Given the description of an element on the screen output the (x, y) to click on. 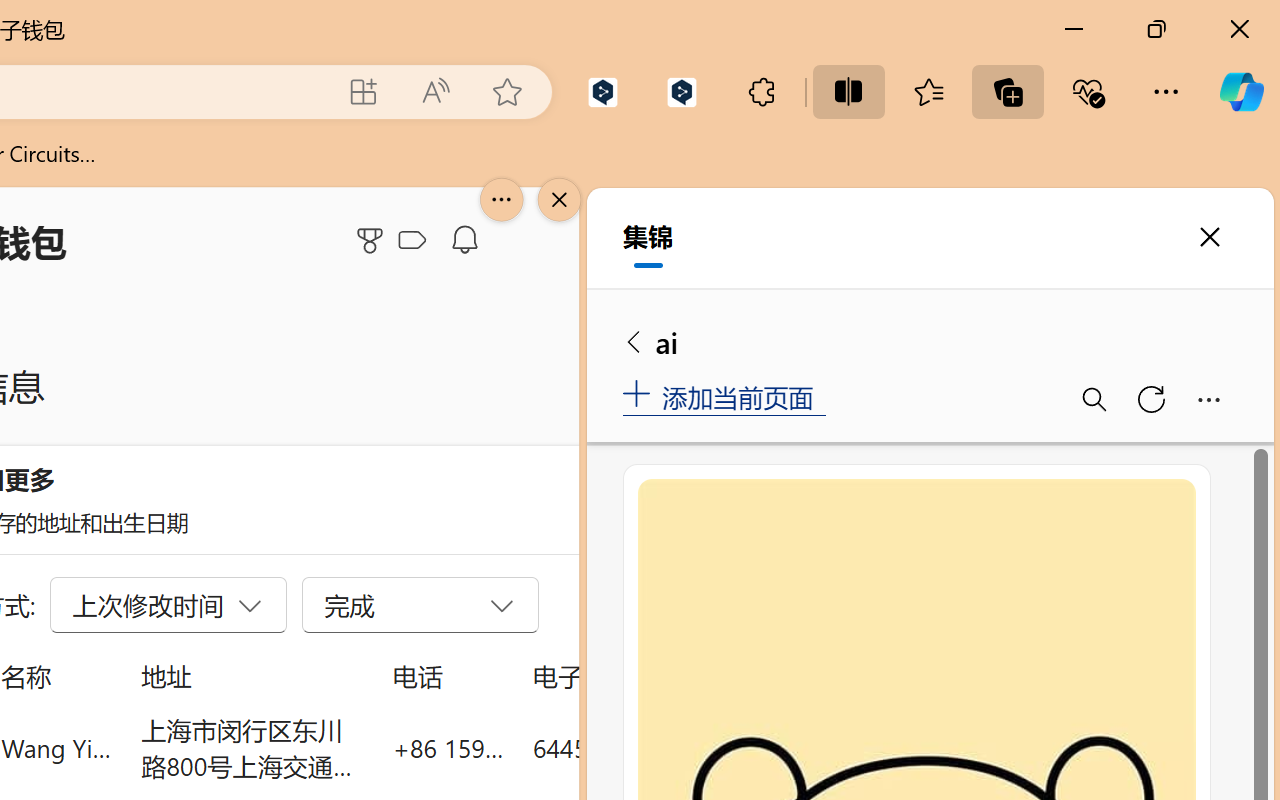
Class: ___1lmltc5 f1agt3bx f12qytpq (411, 241)
+86 159 0032 4640 (447, 747)
Microsoft Rewards (373, 240)
